Given the description of an element on the screen output the (x, y) to click on. 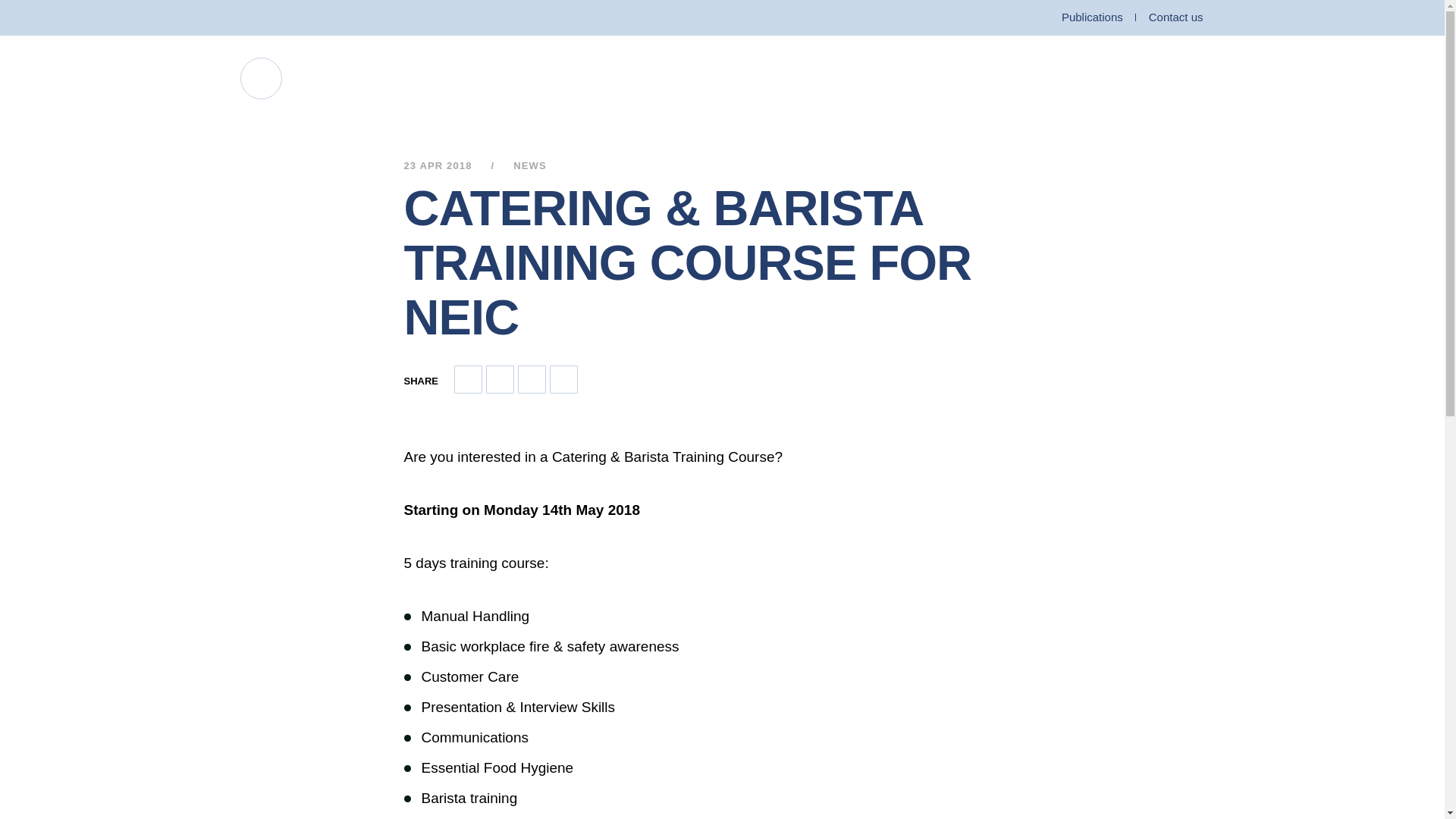
YouTube (246, 17)
Instagram (359, 17)
Share on Facebook (499, 379)
Publications (1091, 16)
Share on Twitter (564, 379)
Share by Email (467, 379)
Twitter (331, 17)
Contact us (1176, 16)
Facebook (275, 17)
LinkedIn (302, 17)
Share on LinkedIn (532, 379)
